Given the description of an element on the screen output the (x, y) to click on. 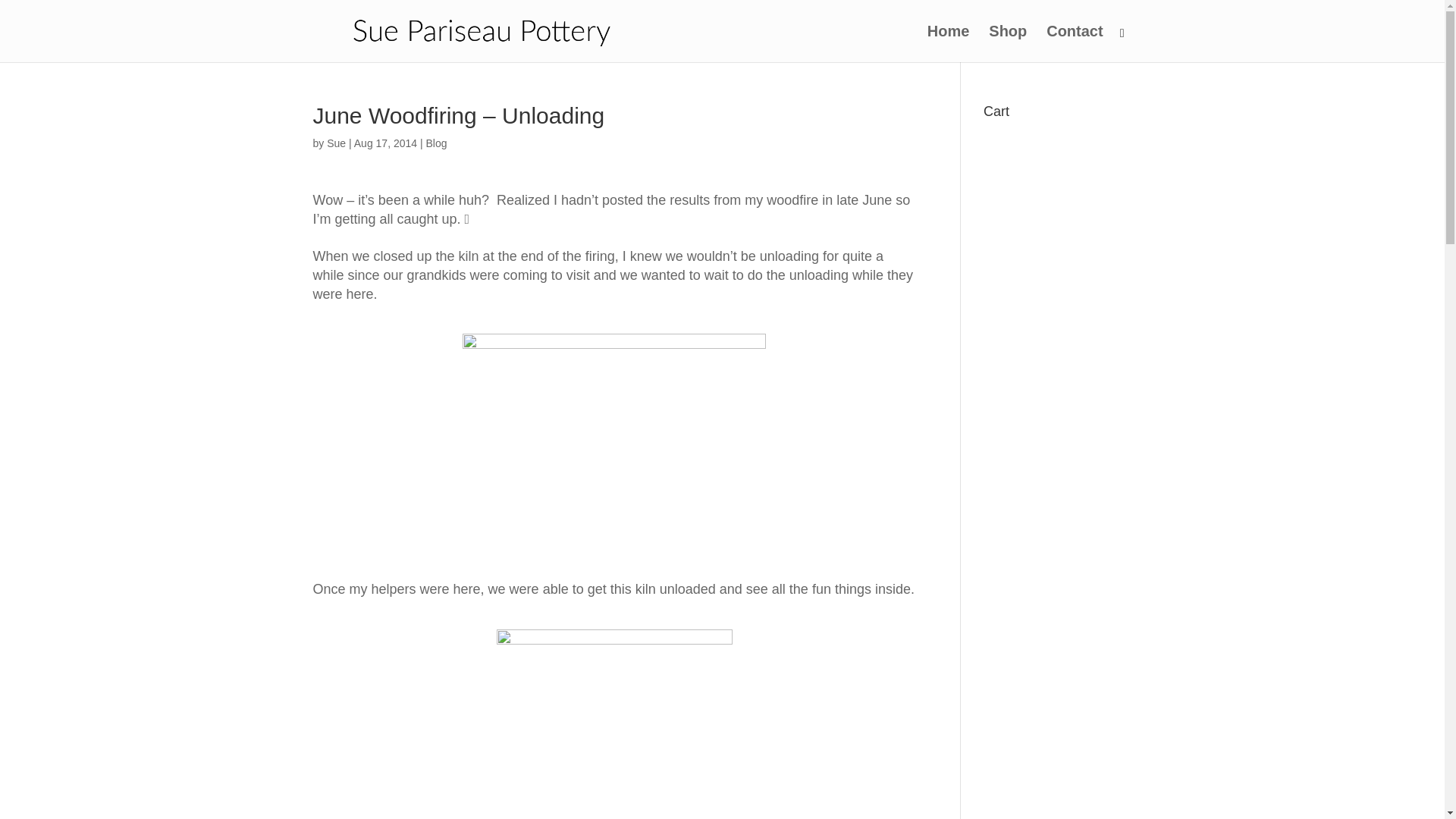
Sue (336, 143)
Contact (1074, 43)
Posts by Sue (336, 143)
Shop (1007, 43)
Blog (435, 143)
Home (948, 43)
